Given the description of an element on the screen output the (x, y) to click on. 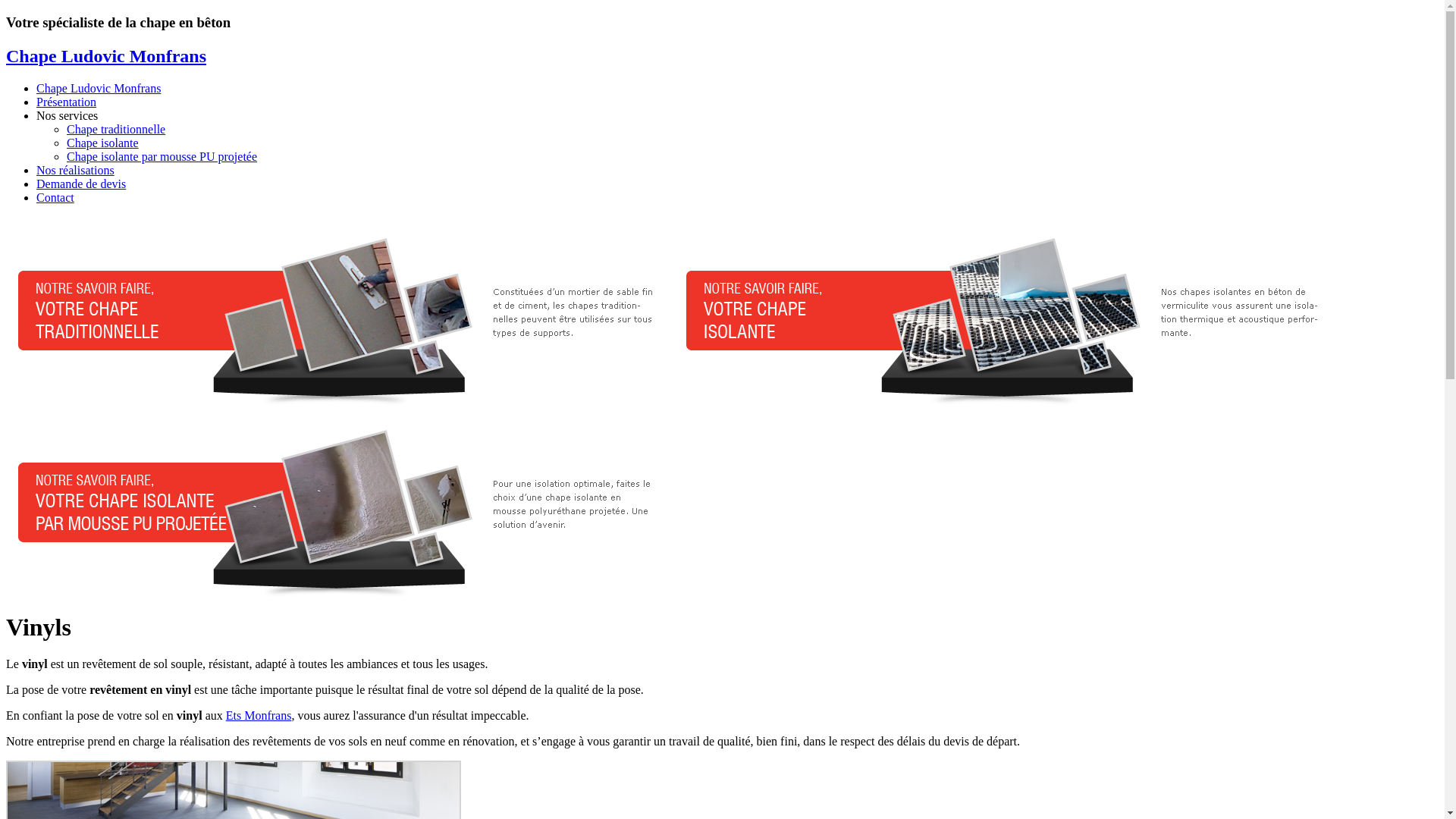
Contact Element type: text (55, 197)
Chape isolante Element type: text (102, 142)
Chape traditionnelle Element type: text (115, 128)
Chape Ludovic Monfrans Element type: text (98, 87)
Ets Monfrans Element type: text (258, 715)
Chape Ludovic Monfrans Element type: text (106, 55)
Nos services Element type: text (66, 115)
Demande de devis Element type: text (80, 183)
